Given the description of an element on the screen output the (x, y) to click on. 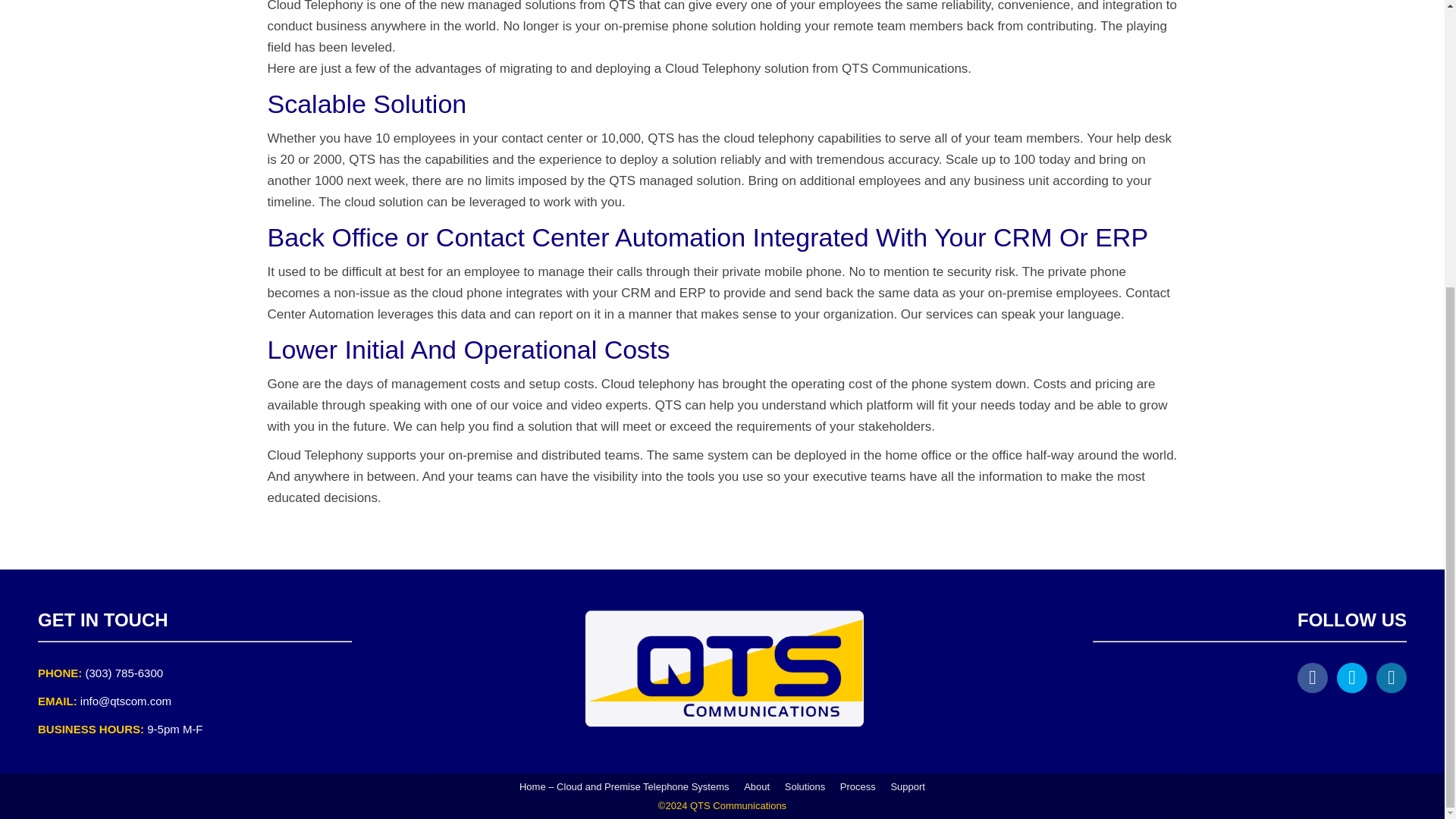
Facebook (1312, 677)
X (1351, 677)
Linkedin (1390, 677)
